Given the description of an element on the screen output the (x, y) to click on. 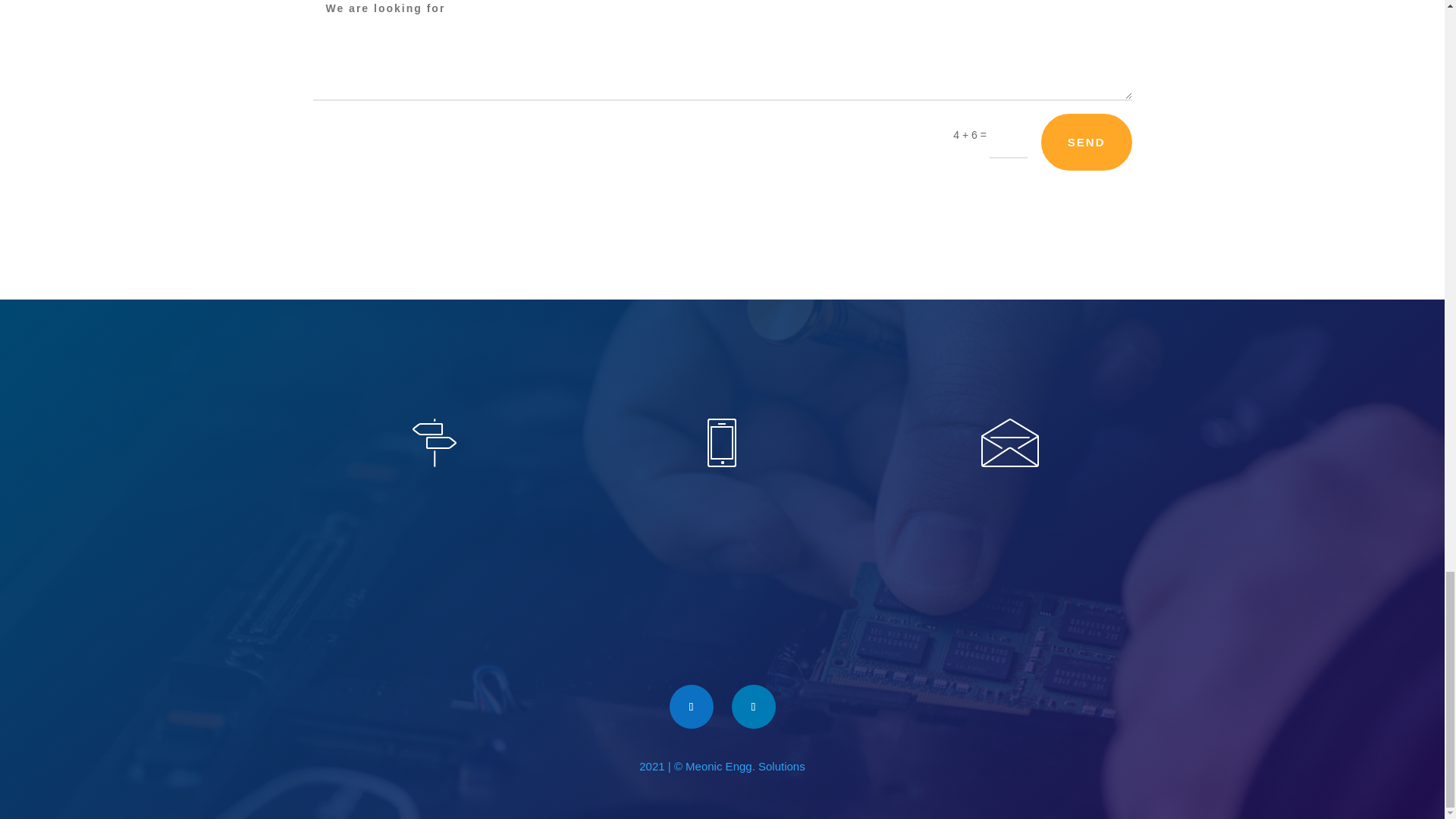
Follow on Facebook (690, 706)
Follow on LinkedIn (752, 706)
line-icons-41 (1010, 442)
line-icons-42 (434, 442)
